Given the description of an element on the screen output the (x, y) to click on. 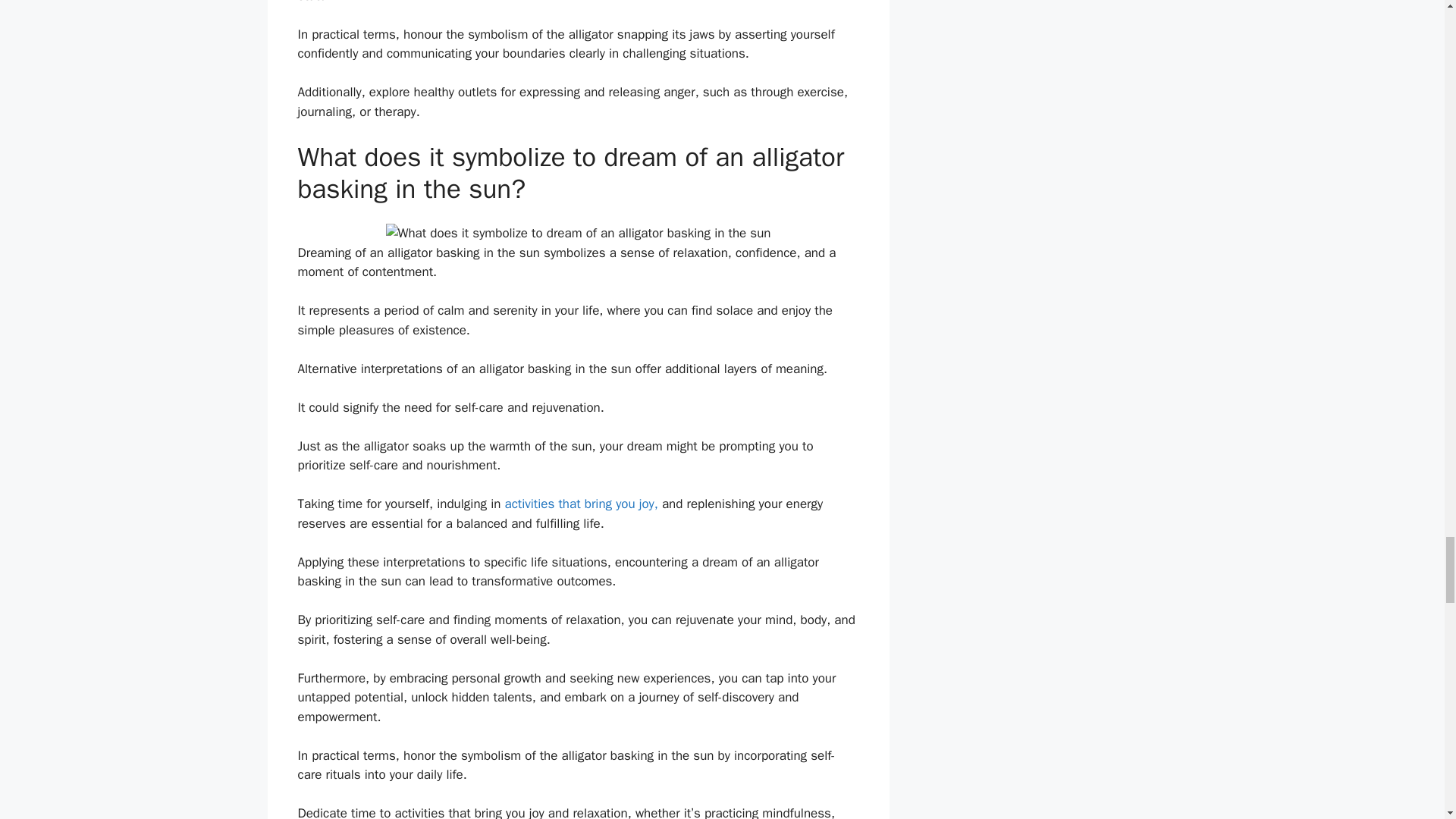
activities that bring you joy, (581, 503)
